Given the description of an element on the screen output the (x, y) to click on. 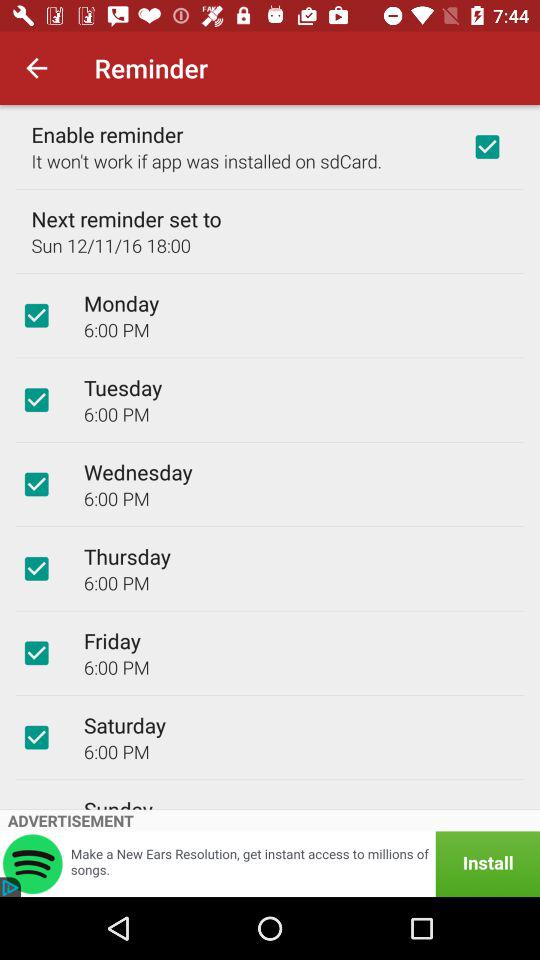
enable/disble reminders (487, 147)
